Given the description of an element on the screen output the (x, y) to click on. 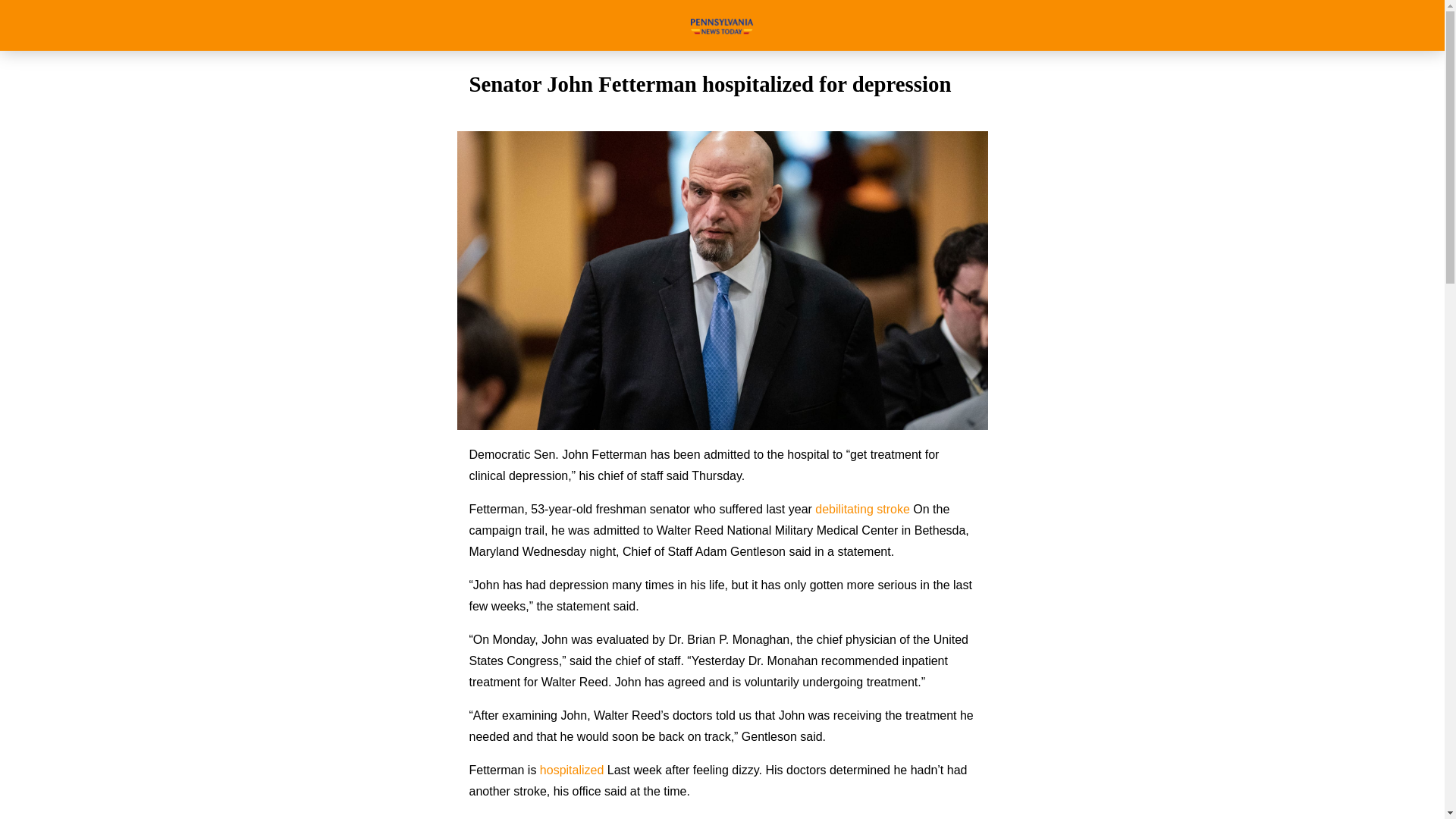
hospitalized (572, 769)
debilitating stroke (862, 508)
Pennsylvanianewstoday.com (721, 25)
